Given the description of an element on the screen output the (x, y) to click on. 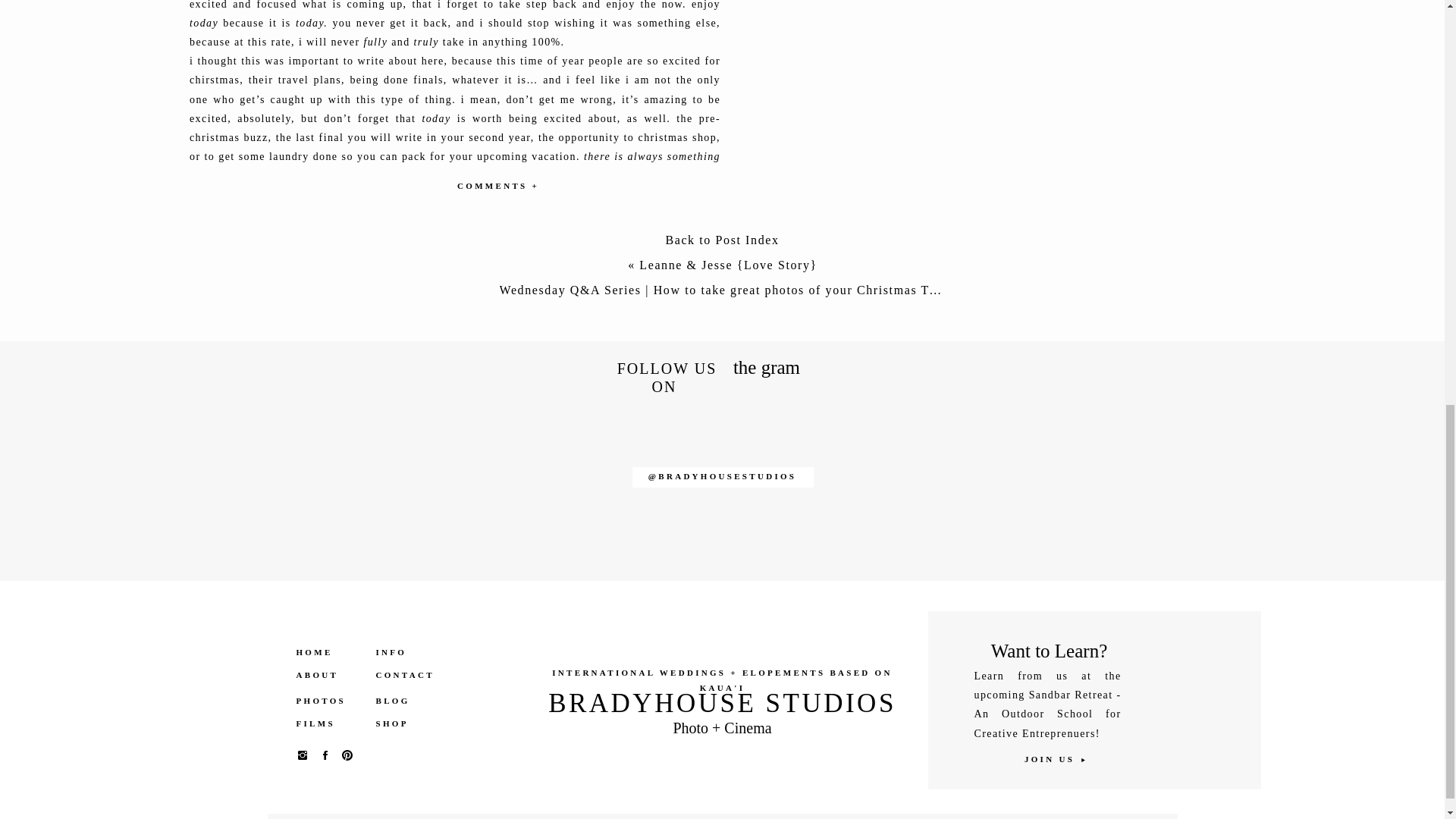
HOME (327, 652)
ABOUT (327, 675)
Back to Post Index (721, 243)
PHOTOS (327, 700)
INFO (400, 652)
FILMS (327, 723)
